Given the description of an element on the screen output the (x, y) to click on. 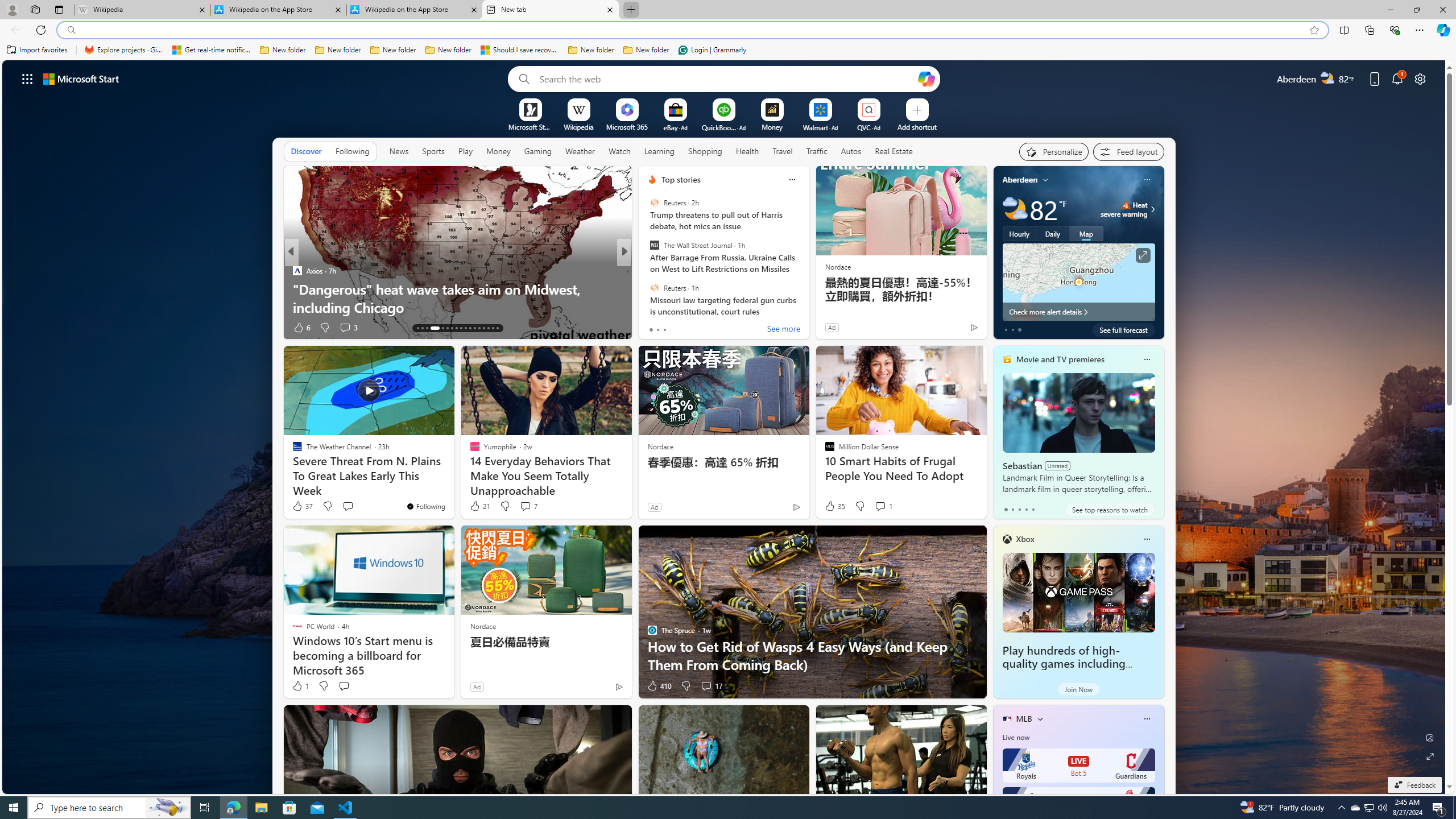
XDA Developers (647, 270)
Partly cloudy (1014, 208)
Check more alert details (1077, 311)
insightsoftware.com (672, 270)
